Given the description of an element on the screen output the (x, y) to click on. 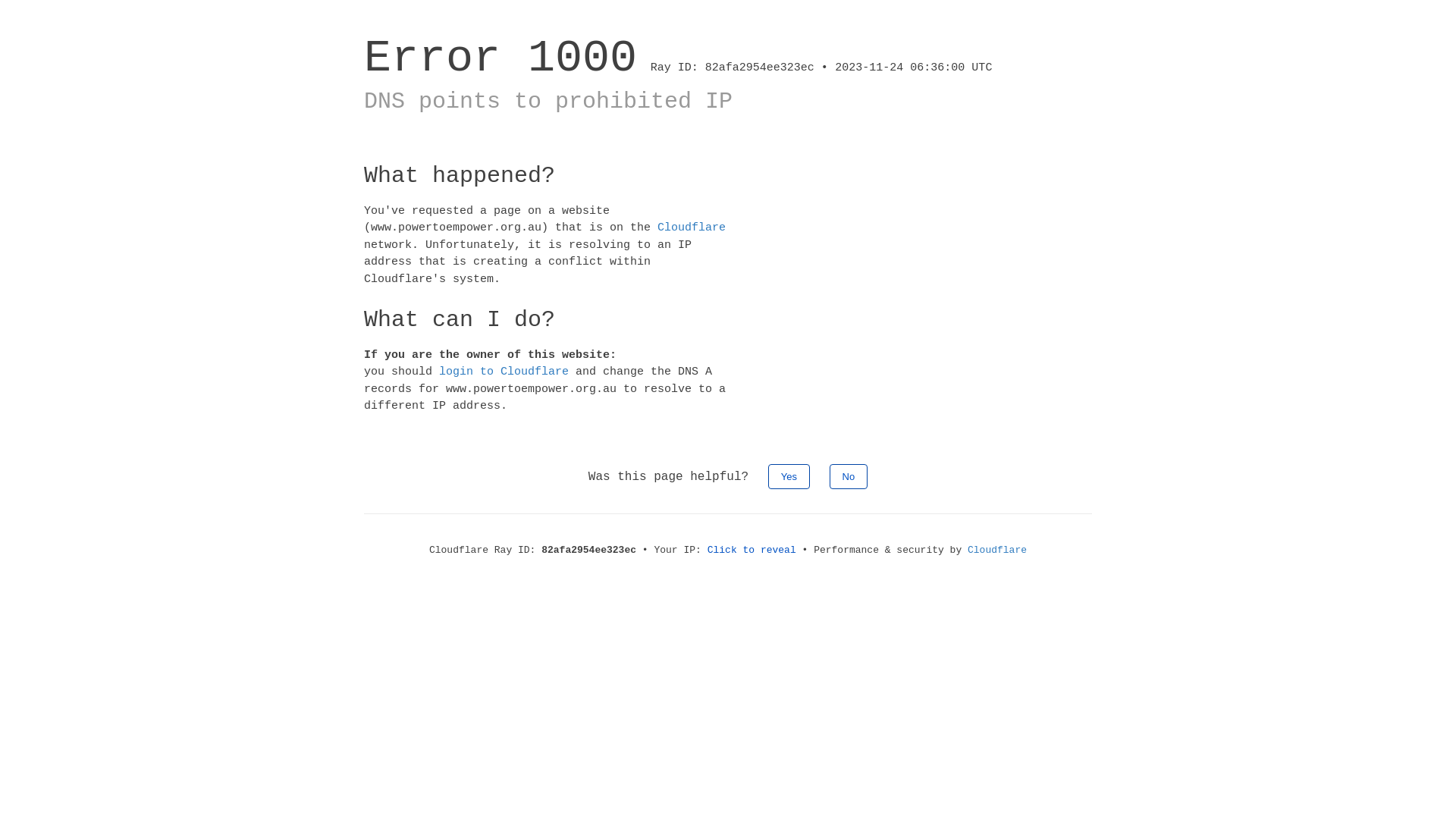
login to Cloudflare Element type: text (503, 371)
Cloudflare Element type: text (691, 227)
Cloudflare Element type: text (996, 549)
No Element type: text (848, 476)
Click to reveal Element type: text (751, 549)
Yes Element type: text (788, 476)
